Given the description of an element on the screen output the (x, y) to click on. 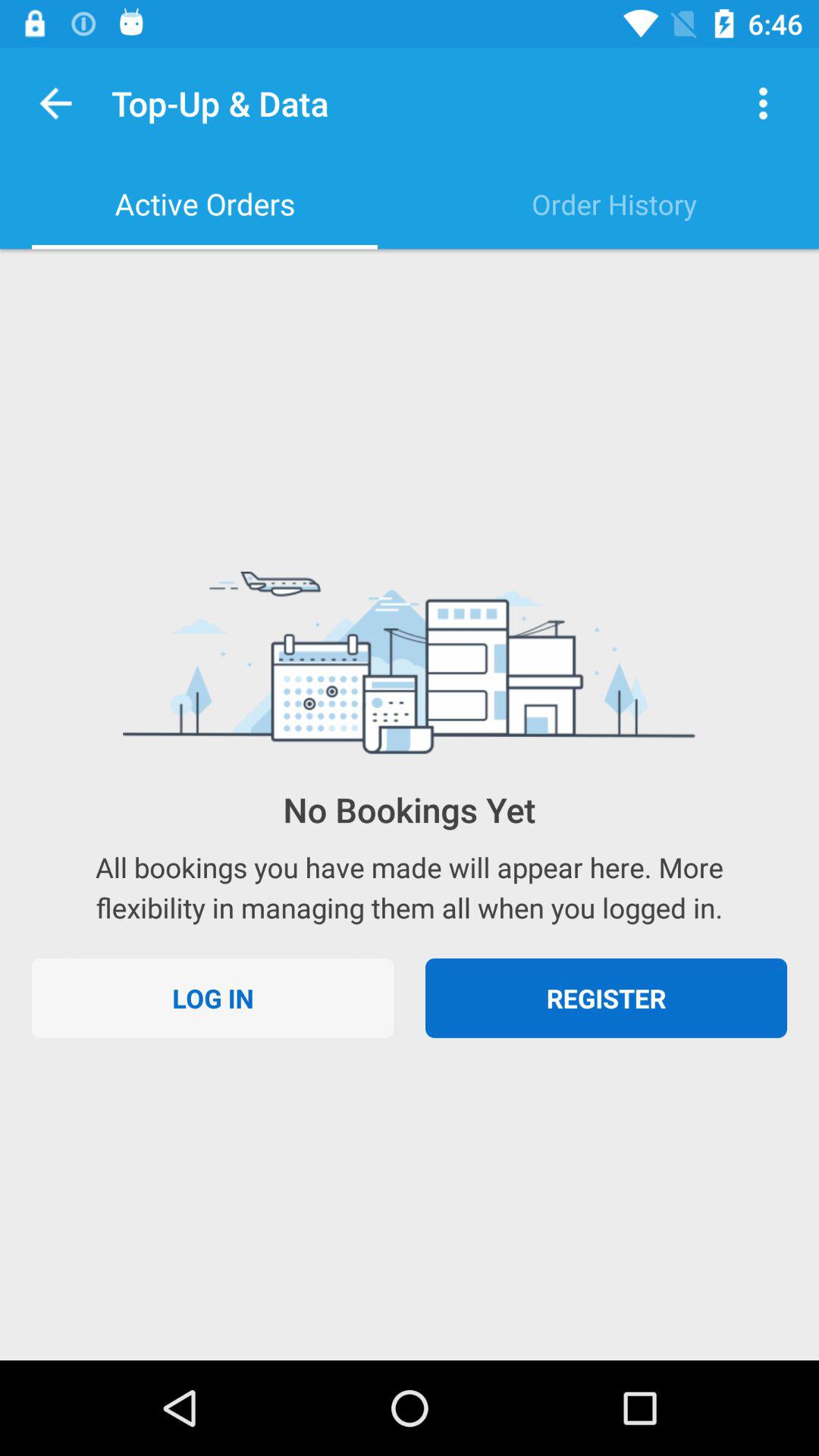
select the register at the bottom right corner (606, 997)
